Given the description of an element on the screen output the (x, y) to click on. 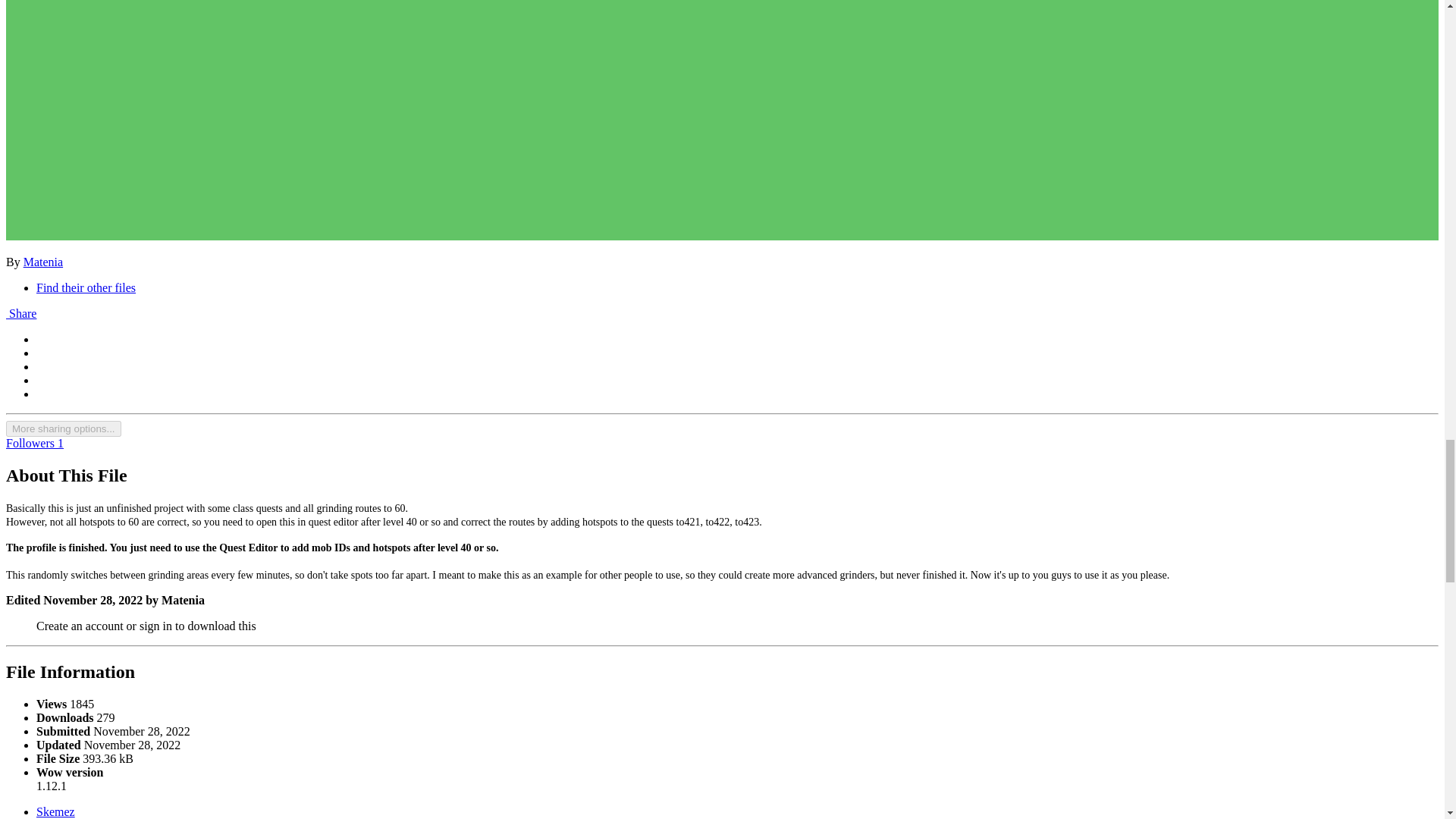
Go to Matenia's profile (42, 261)
Go to Skemez's profile (55, 811)
Sign in to follow this (34, 442)
